Given the description of an element on the screen output the (x, y) to click on. 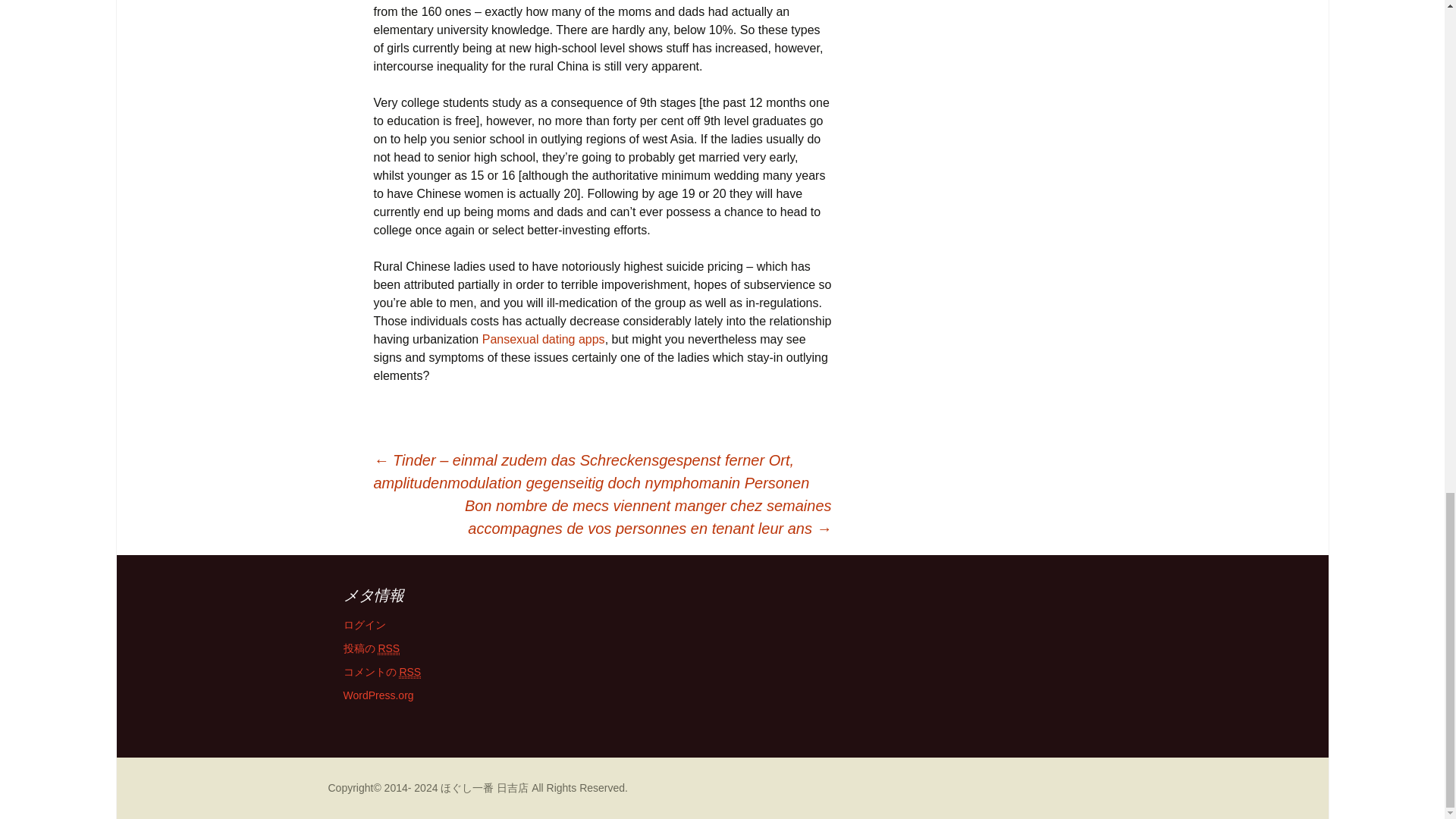
Pansexual dating apps (543, 338)
WordPress.org (377, 695)
Really Simple Syndication (387, 648)
Really Simple Syndication (409, 671)
